Given the description of an element on the screen output the (x, y) to click on. 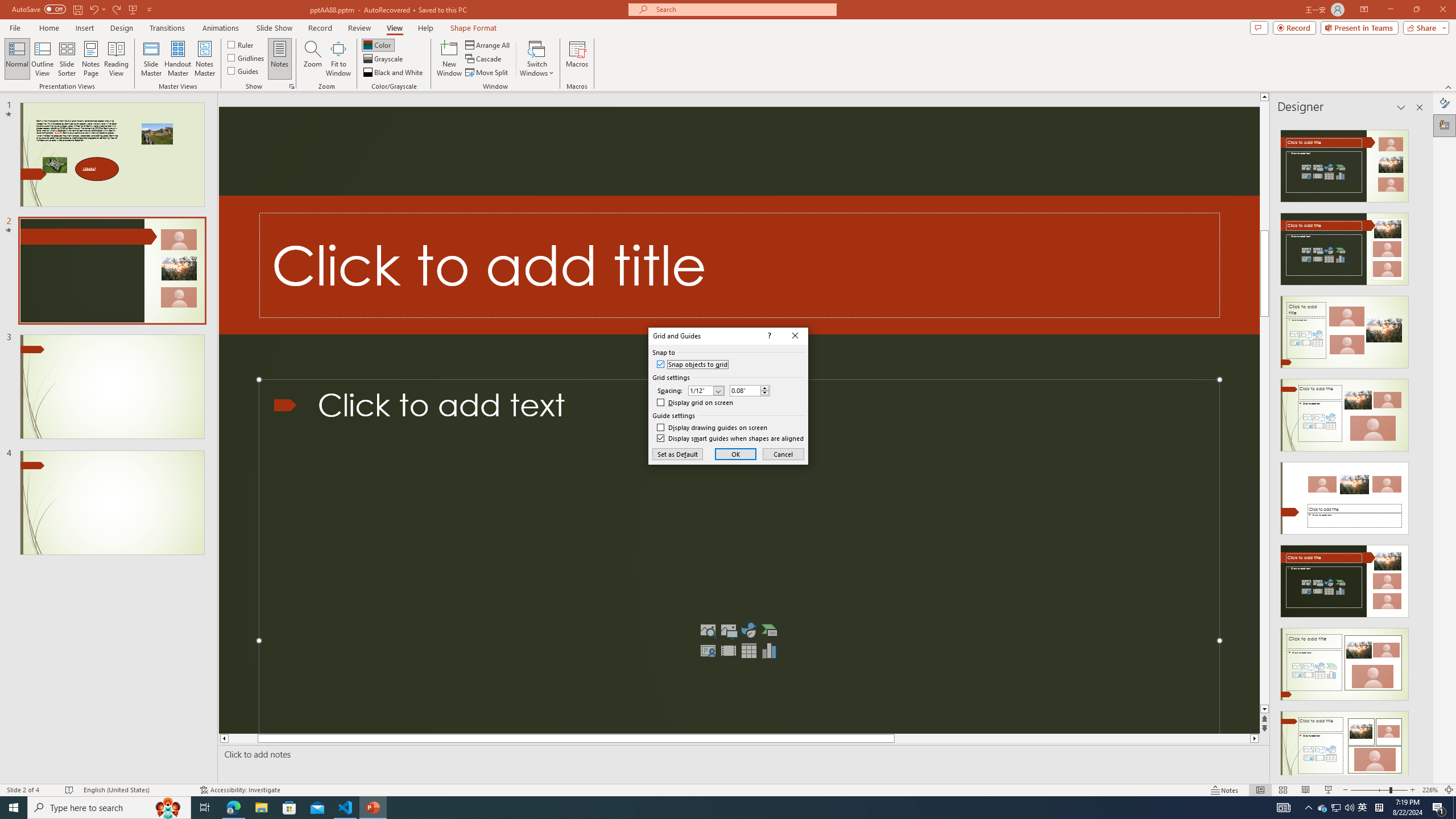
Outline View (42, 58)
Insert Chart (769, 650)
Guides (243, 69)
Fit to Window (338, 58)
Custom Spacing (745, 390)
Notes Page (90, 58)
